Given the description of an element on the screen output the (x, y) to click on. 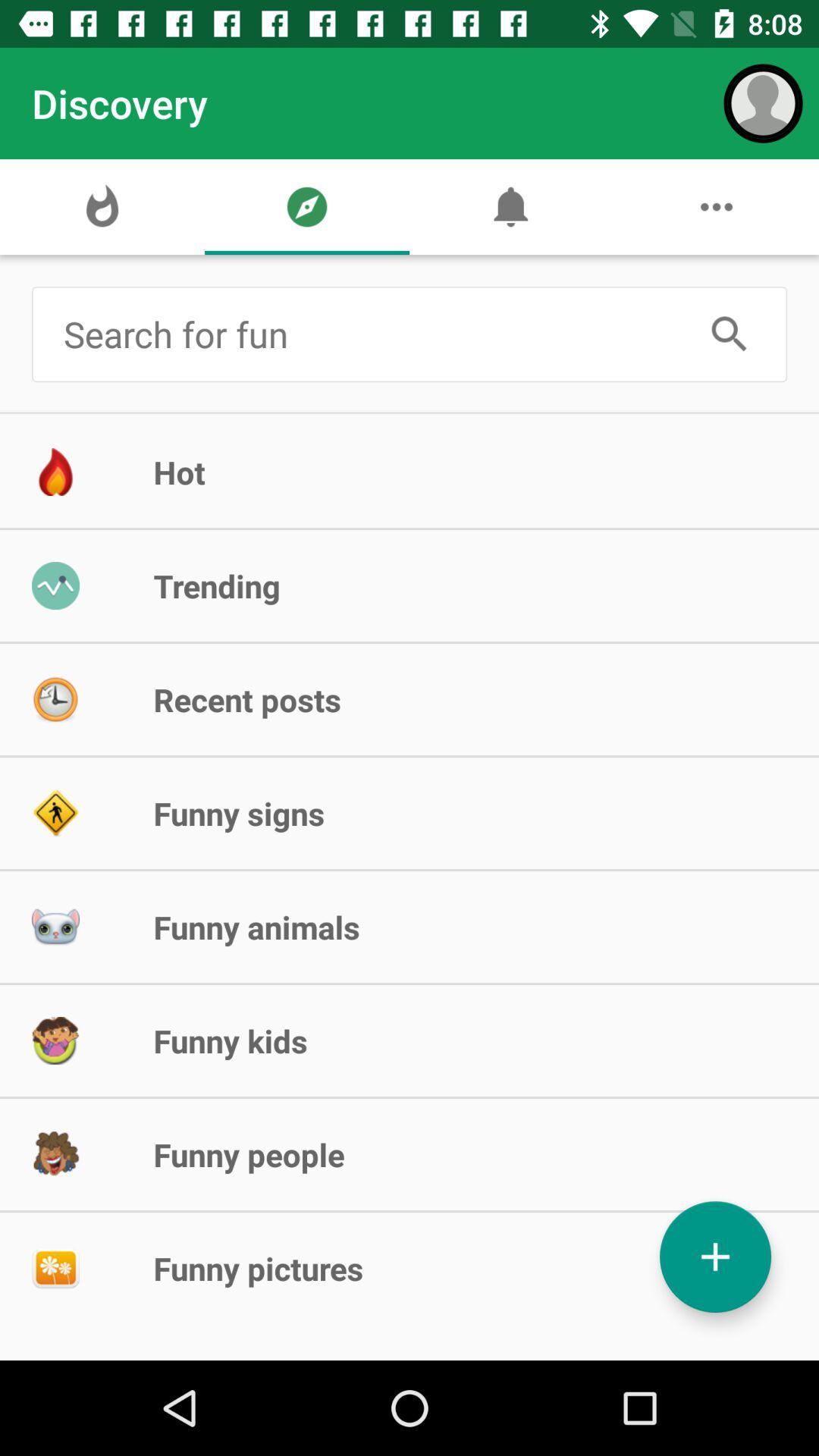
add category (715, 1256)
